Given the description of an element on the screen output the (x, y) to click on. 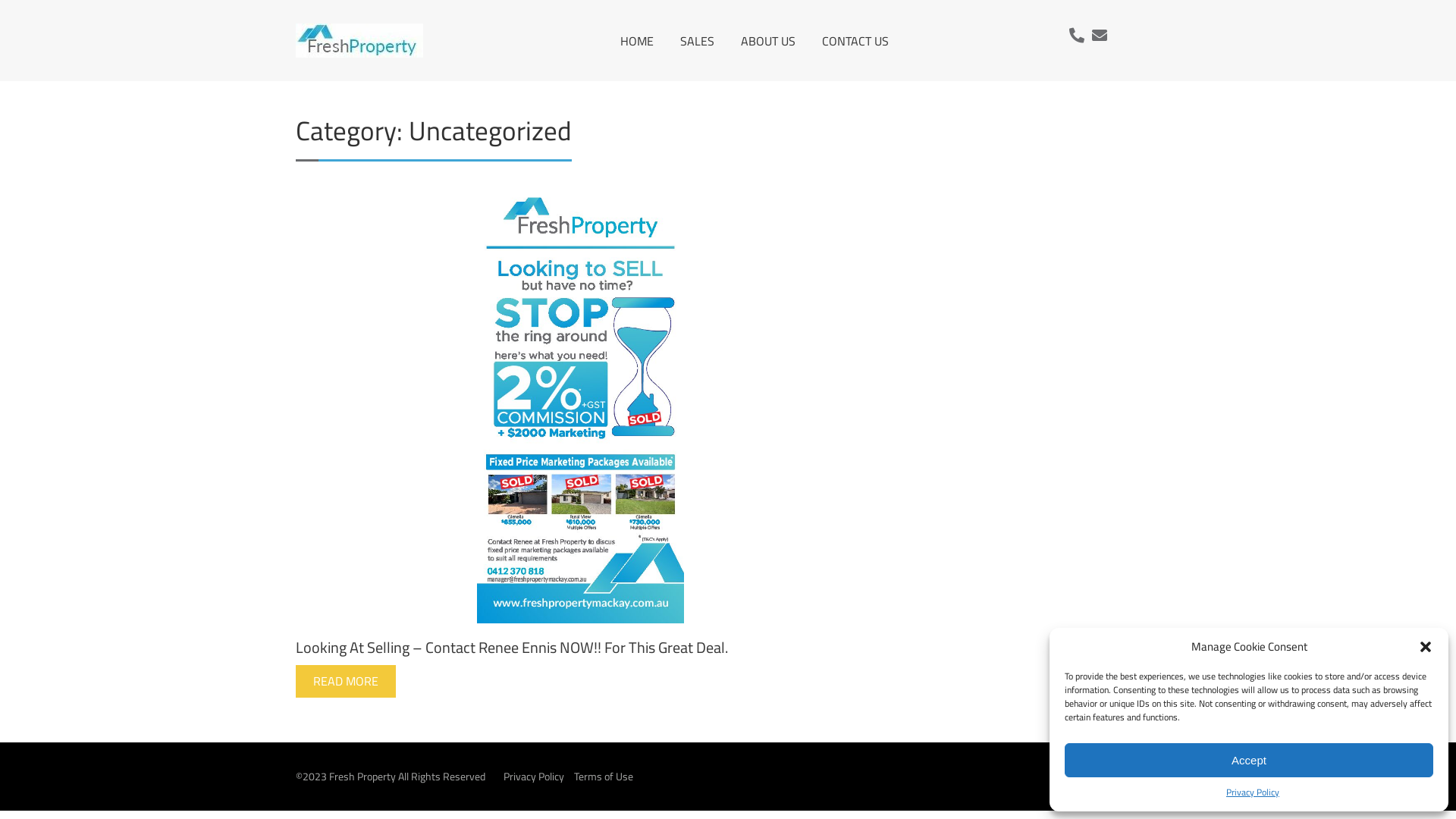
Privacy Policy Element type: text (533, 776)
Terms of Use Element type: text (603, 776)
ABOUT US Element type: text (767, 40)
Privacy Policy Element type: text (1252, 792)
HOME Element type: text (636, 40)
CONTACT US Element type: text (855, 40)
READ MORE Element type: text (345, 681)
Accept Element type: text (1248, 760)
SALES Element type: text (696, 40)
FRESH PROPERTY Element type: text (457, 76)
Facebook Element type: text (1106, 774)
linkedin Element type: text (1142, 774)
